Given the description of an element on the screen output the (x, y) to click on. 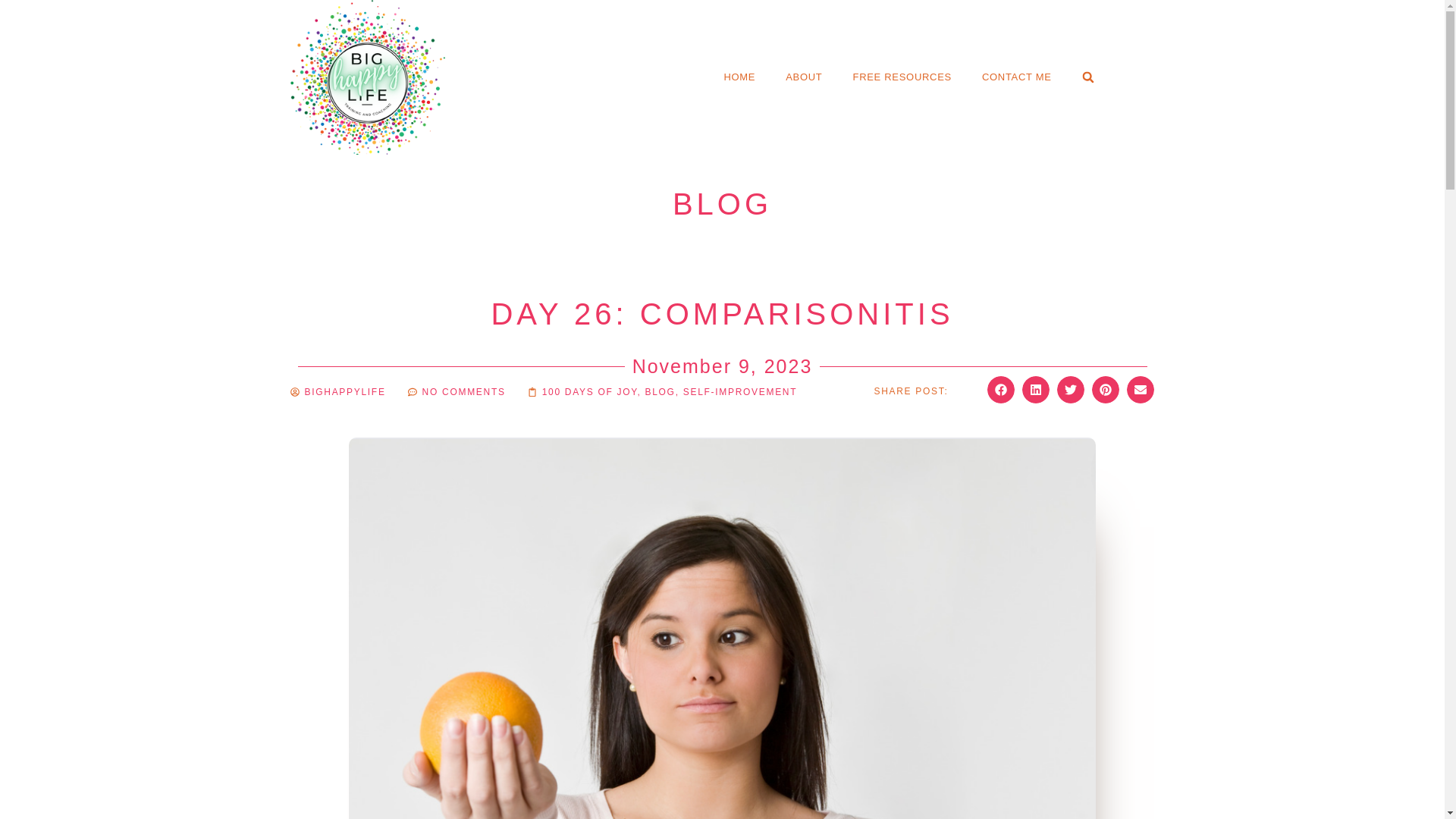
BLOG (660, 391)
BIGHAPPYLIFE (337, 392)
SELF-IMPROVEMENT (739, 391)
NO COMMENTS (456, 392)
FREE RESOURCES (901, 77)
100 DAYS OF JOY (589, 391)
HOME (738, 77)
CONTACT ME (1016, 77)
ABOUT (803, 77)
